Given the description of an element on the screen output the (x, y) to click on. 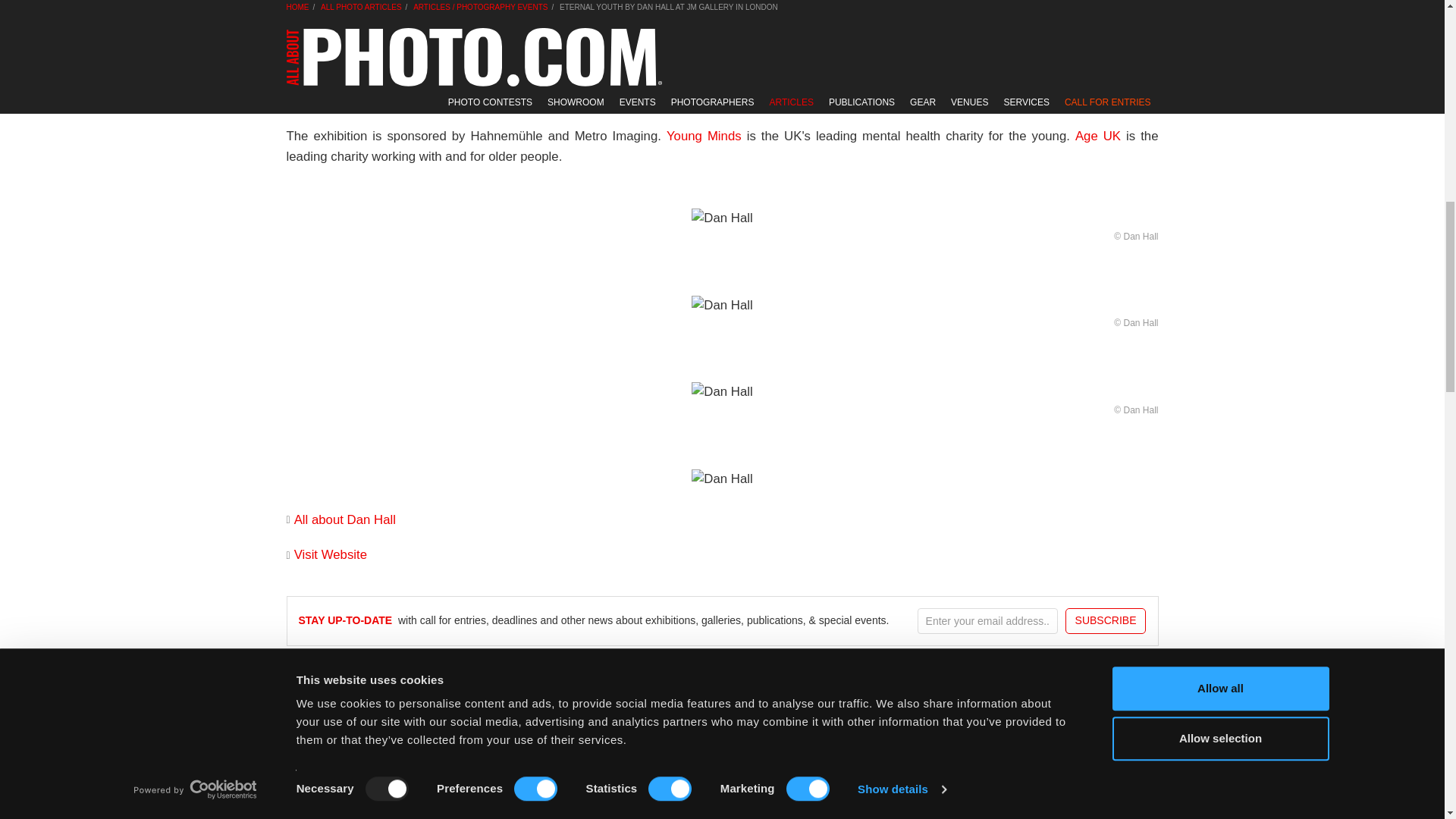
Subscribe (1106, 620)
